Given the description of an element on the screen output the (x, y) to click on. 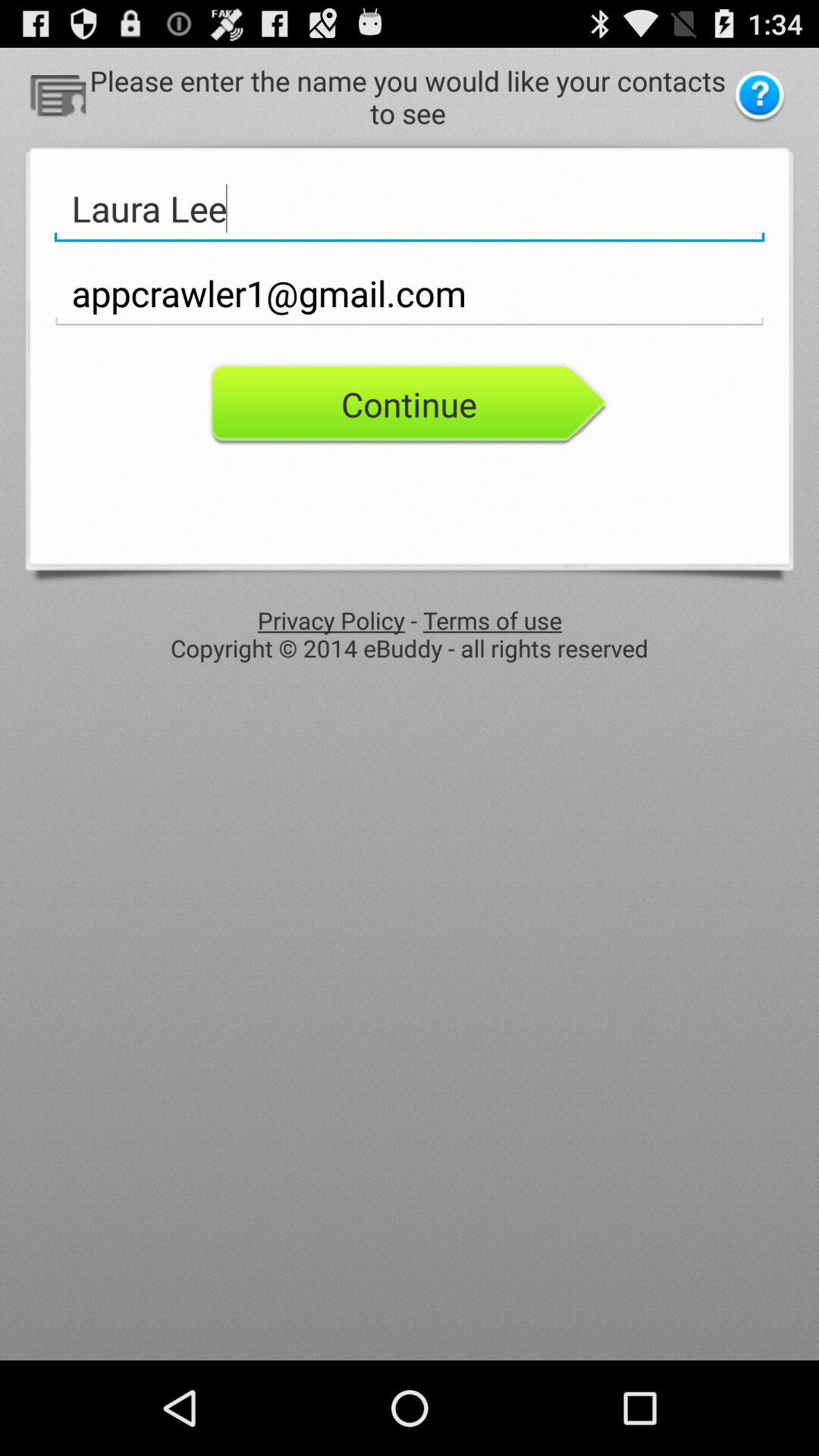
help icon (759, 96)
